Given the description of an element on the screen output the (x, y) to click on. 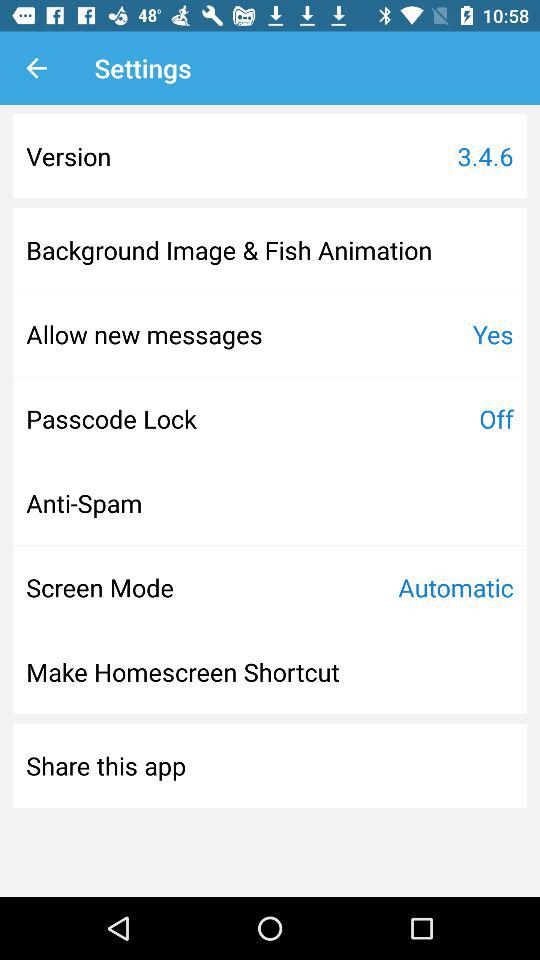
turn on icon below screen mode (182, 671)
